Given the description of an element on the screen output the (x, y) to click on. 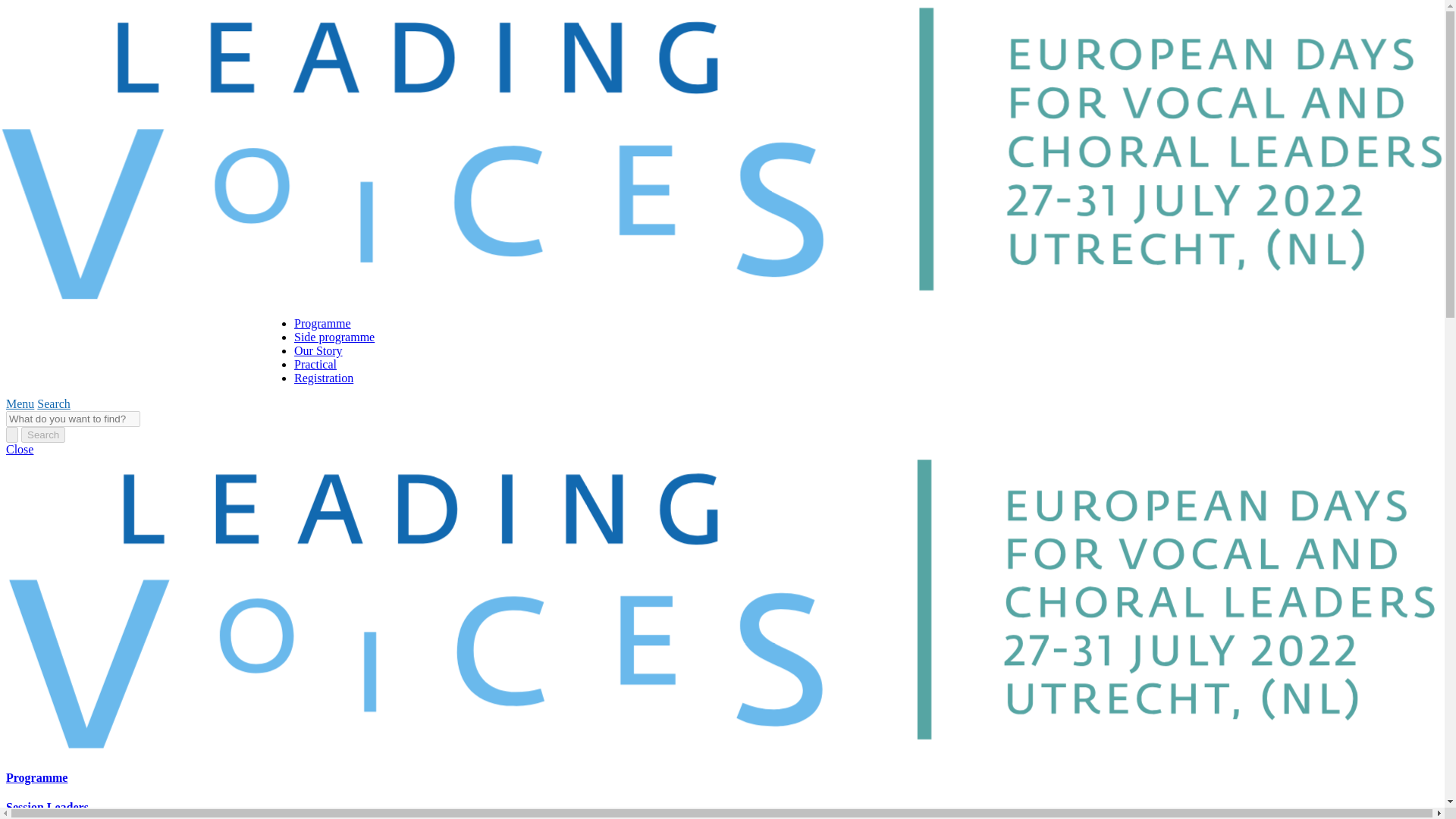
Menu (19, 403)
Search (53, 403)
Search (43, 434)
Practical (315, 364)
Programme (35, 777)
Registration (323, 377)
Session Leaders (46, 807)
Our Story (318, 350)
Close (19, 449)
Side programme (334, 336)
